Given the description of an element on the screen output the (x, y) to click on. 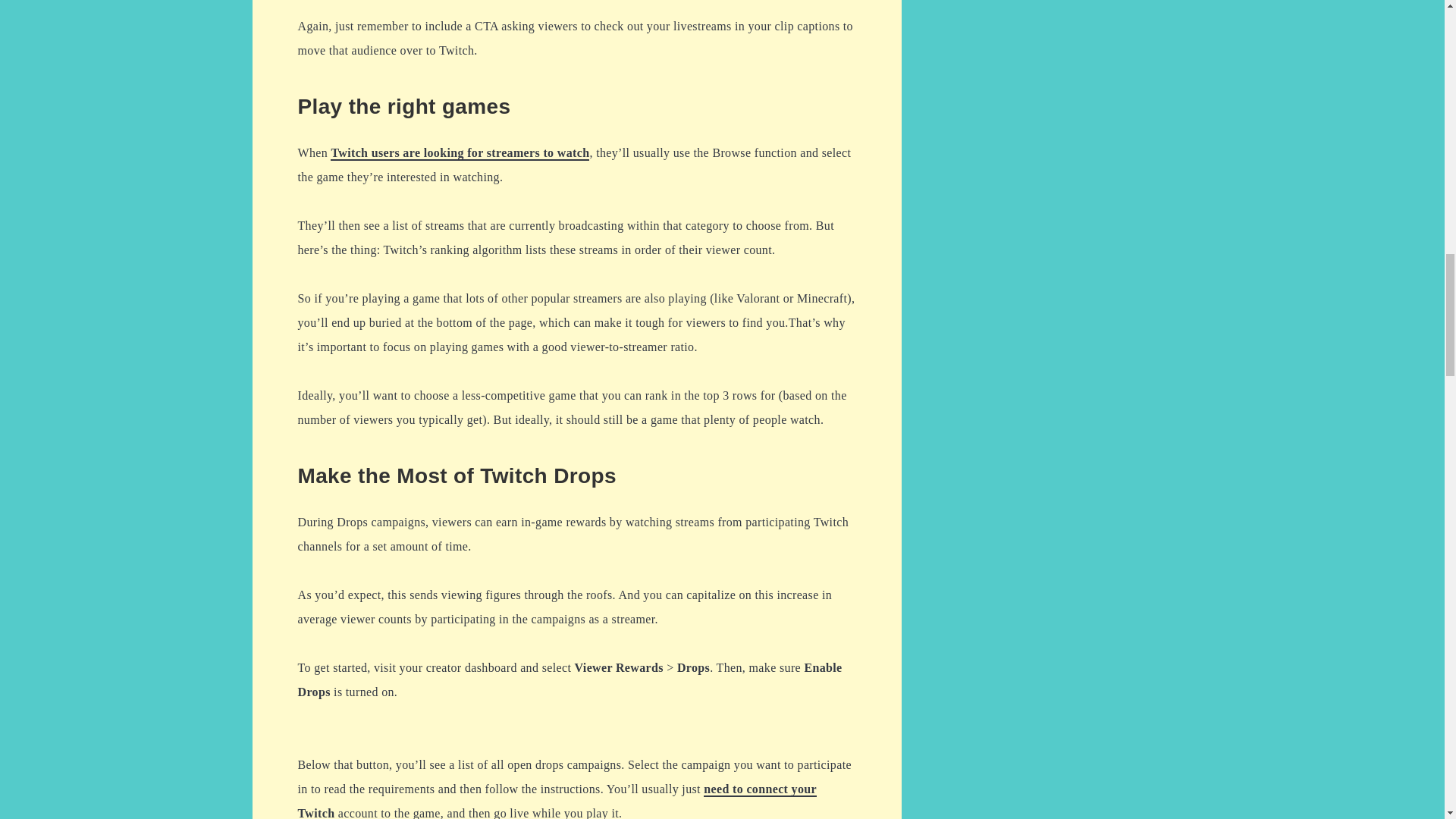
need to connect your Twitch (556, 800)
Twitch users are looking for streamers to watch (459, 153)
